Given the description of an element on the screen output the (x, y) to click on. 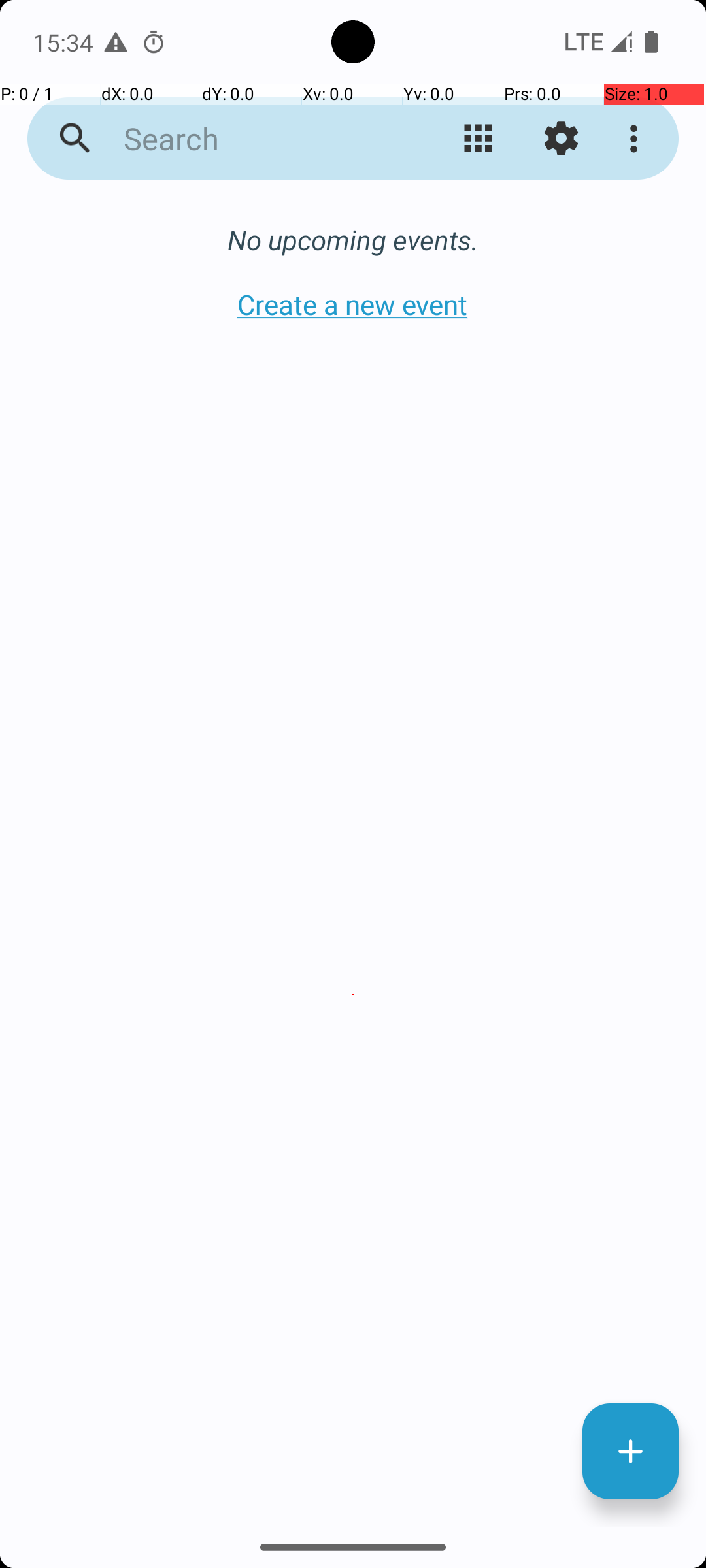
No upcoming events. Element type: android.widget.TextView (353, 239)
Create a new event Element type: android.widget.TextView (352, 304)
